Given the description of an element on the screen output the (x, y) to click on. 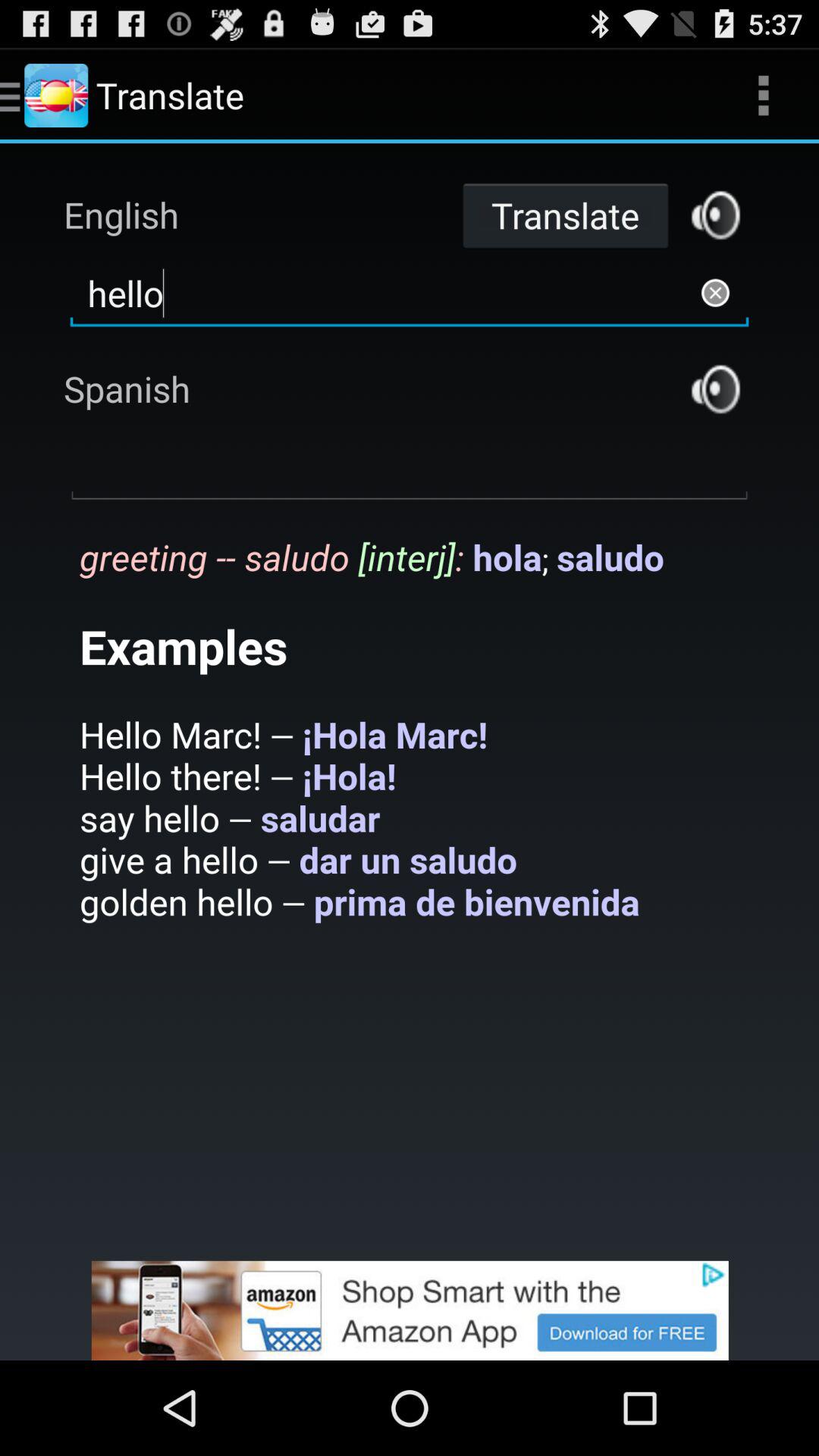
translates this phrase (715, 214)
